Given the description of an element on the screen output the (x, y) to click on. 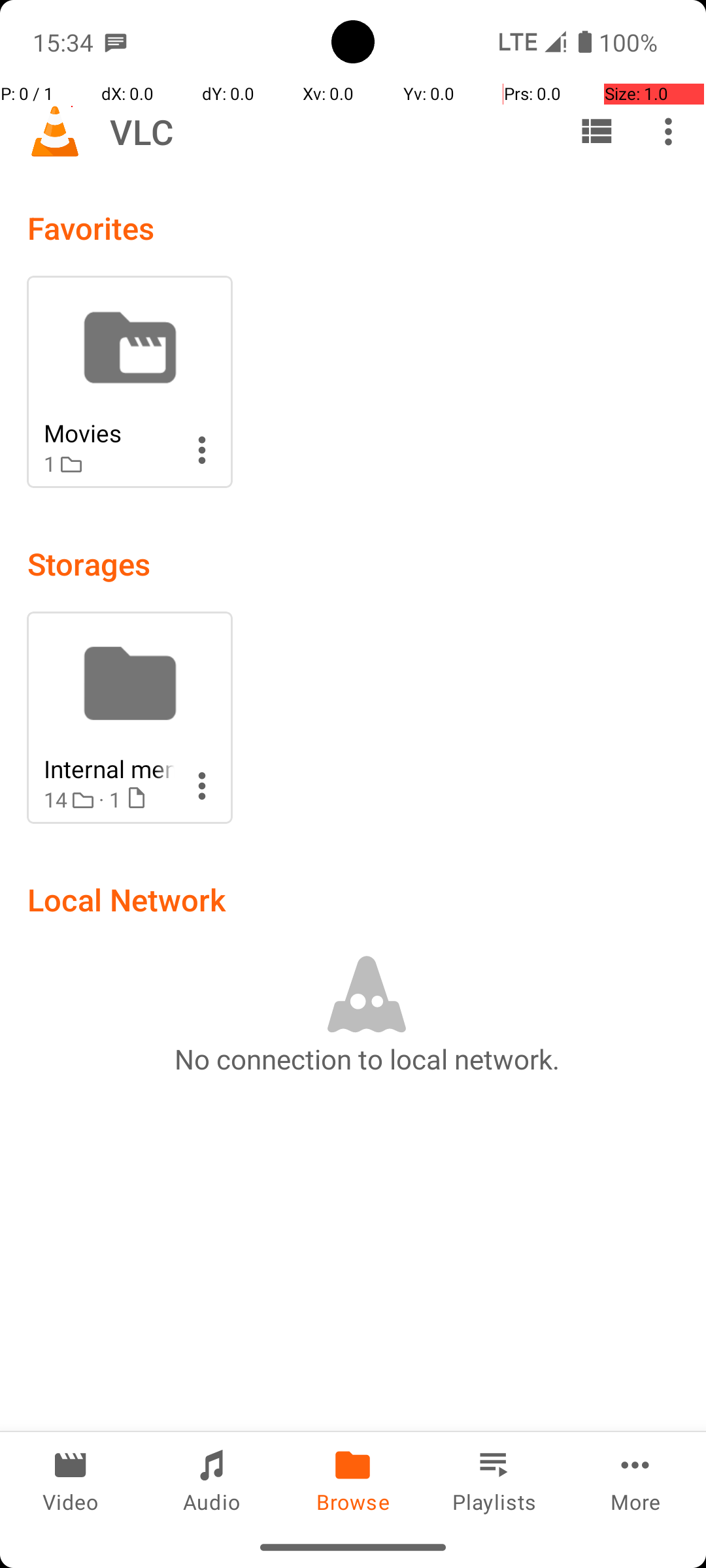
Folder: Internal memory, 14 subfolders, 1 media file Element type: androidx.cardview.widget.CardView (129, 717)
14 §*§ · 1 *§* Element type: android.widget.TextView (108, 799)
